Given the description of an element on the screen output the (x, y) to click on. 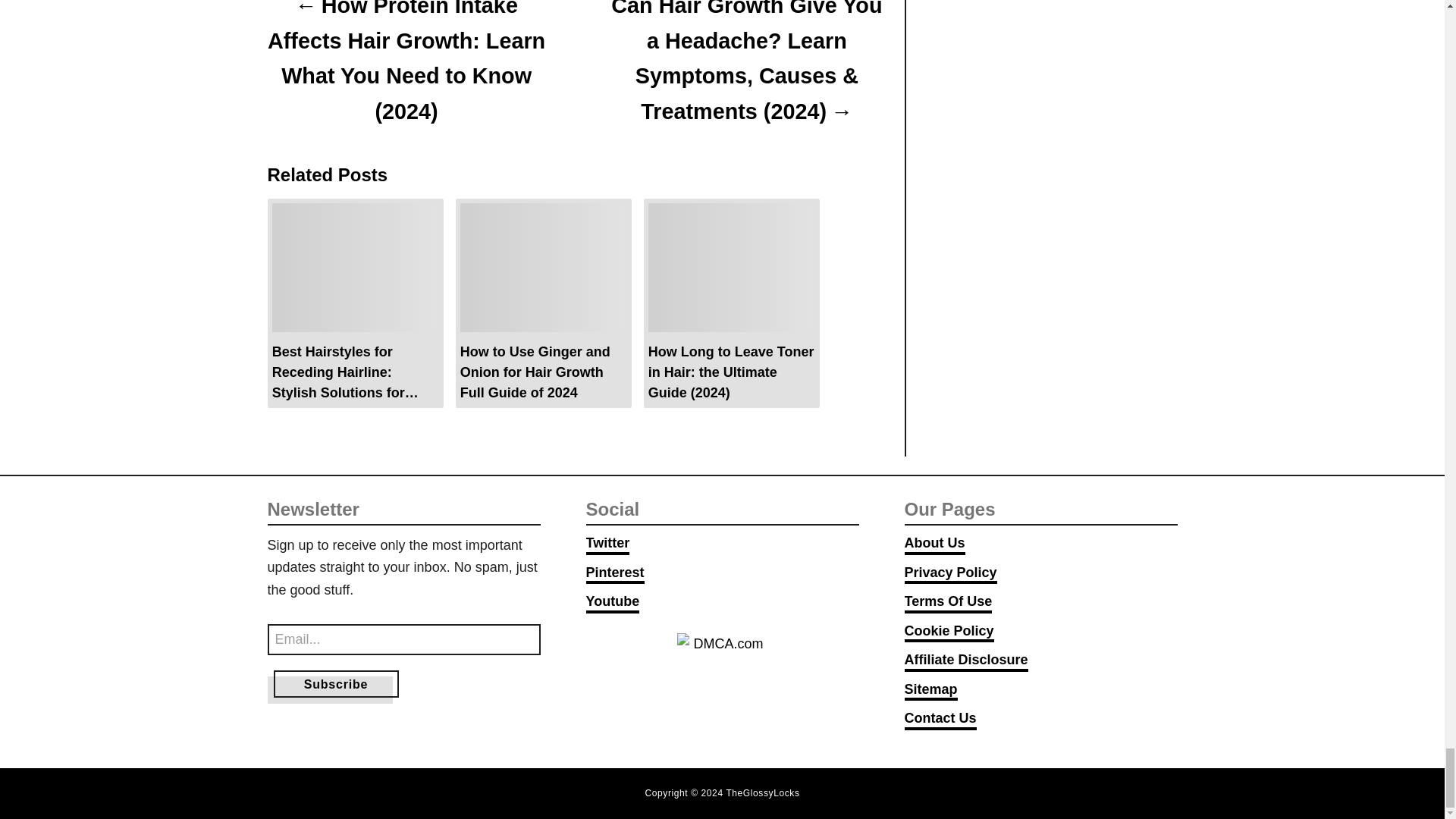
Subscribe (335, 683)
DMCA.com Protection Status (722, 666)
